Given the description of an element on the screen output the (x, y) to click on. 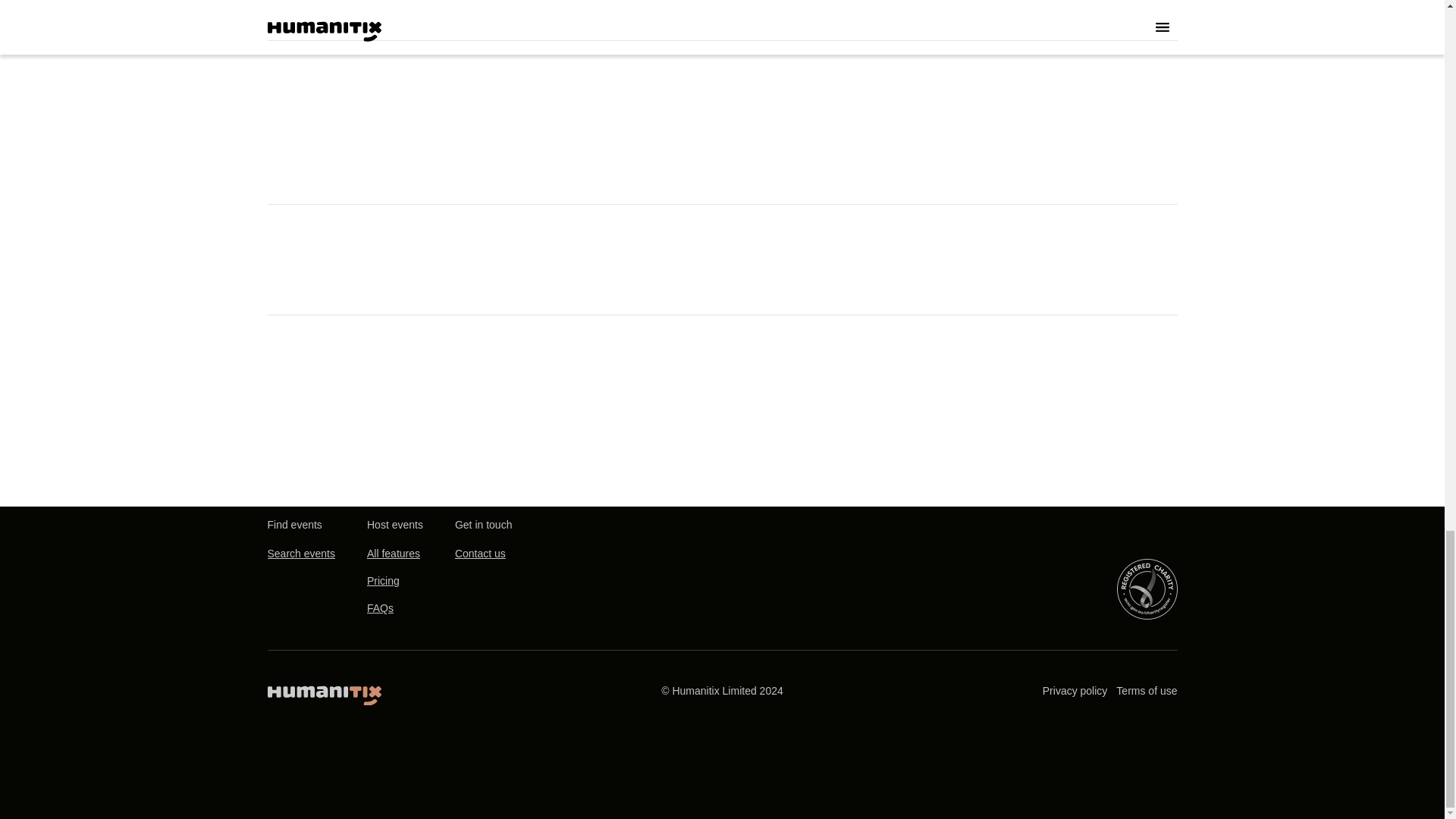
Pricing (382, 581)
Privacy policy (1075, 690)
Contact us (479, 554)
All features (393, 554)
Search events (300, 554)
FAQs (379, 608)
